Given the description of an element on the screen output the (x, y) to click on. 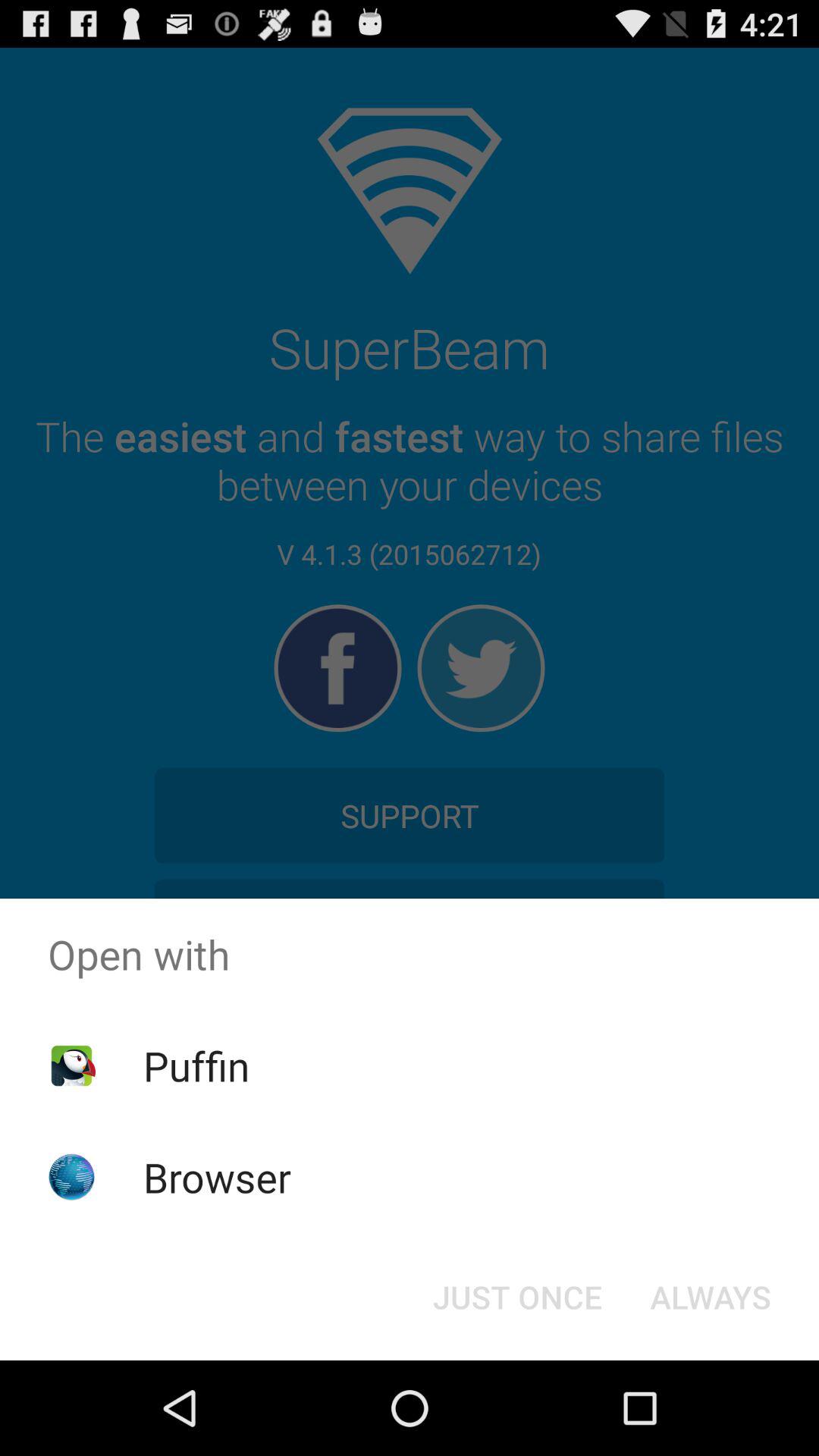
choose the just once icon (517, 1296)
